Given the description of an element on the screen output the (x, y) to click on. 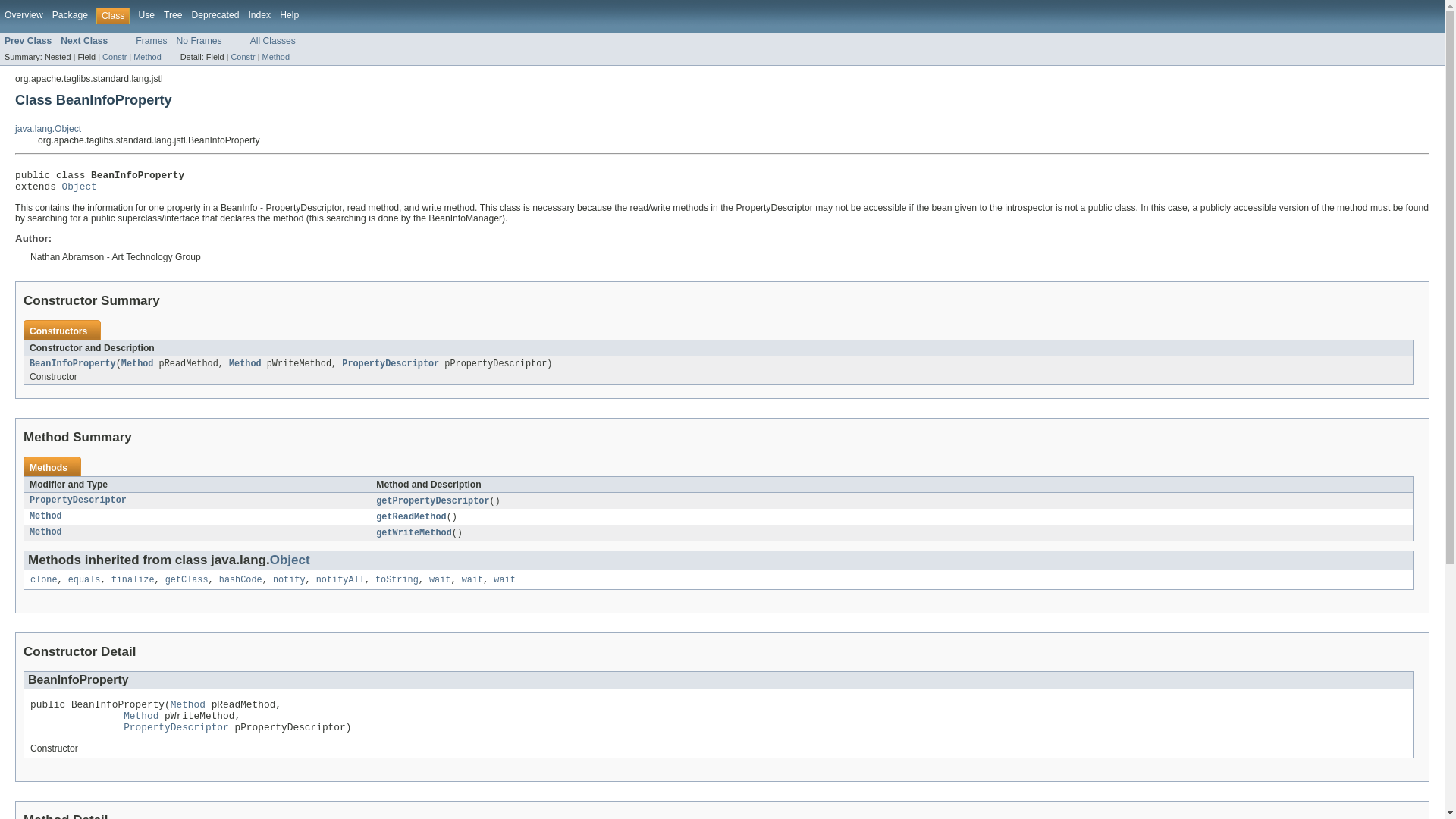
Frames (151, 40)
class or interface in java.lang (186, 579)
Object (79, 186)
class or interface in java.lang.reflect (45, 532)
Constr (242, 56)
Method (275, 56)
getClass (186, 579)
Method (137, 363)
BeanInfoProperty (72, 363)
class in org.apache.taglibs.standard.lang.jstl (84, 40)
finalize (133, 579)
Tree (173, 14)
Object (289, 559)
class or interface in java.lang.reflect (45, 516)
class or interface in java.lang (47, 128)
